Given the description of an element on the screen output the (x, y) to click on. 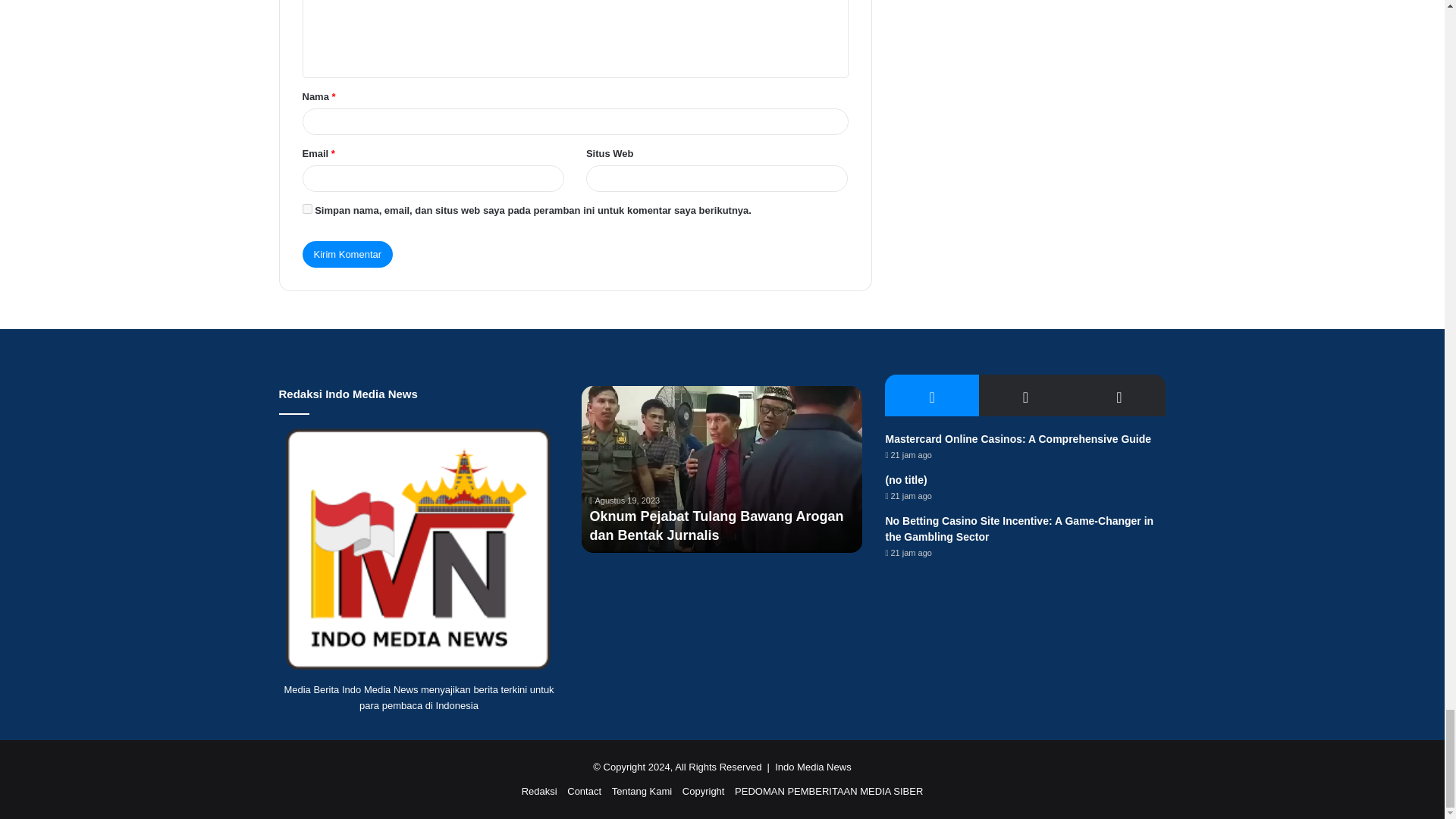
Kirim Komentar (347, 253)
yes (306, 208)
